Given the description of an element on the screen output the (x, y) to click on. 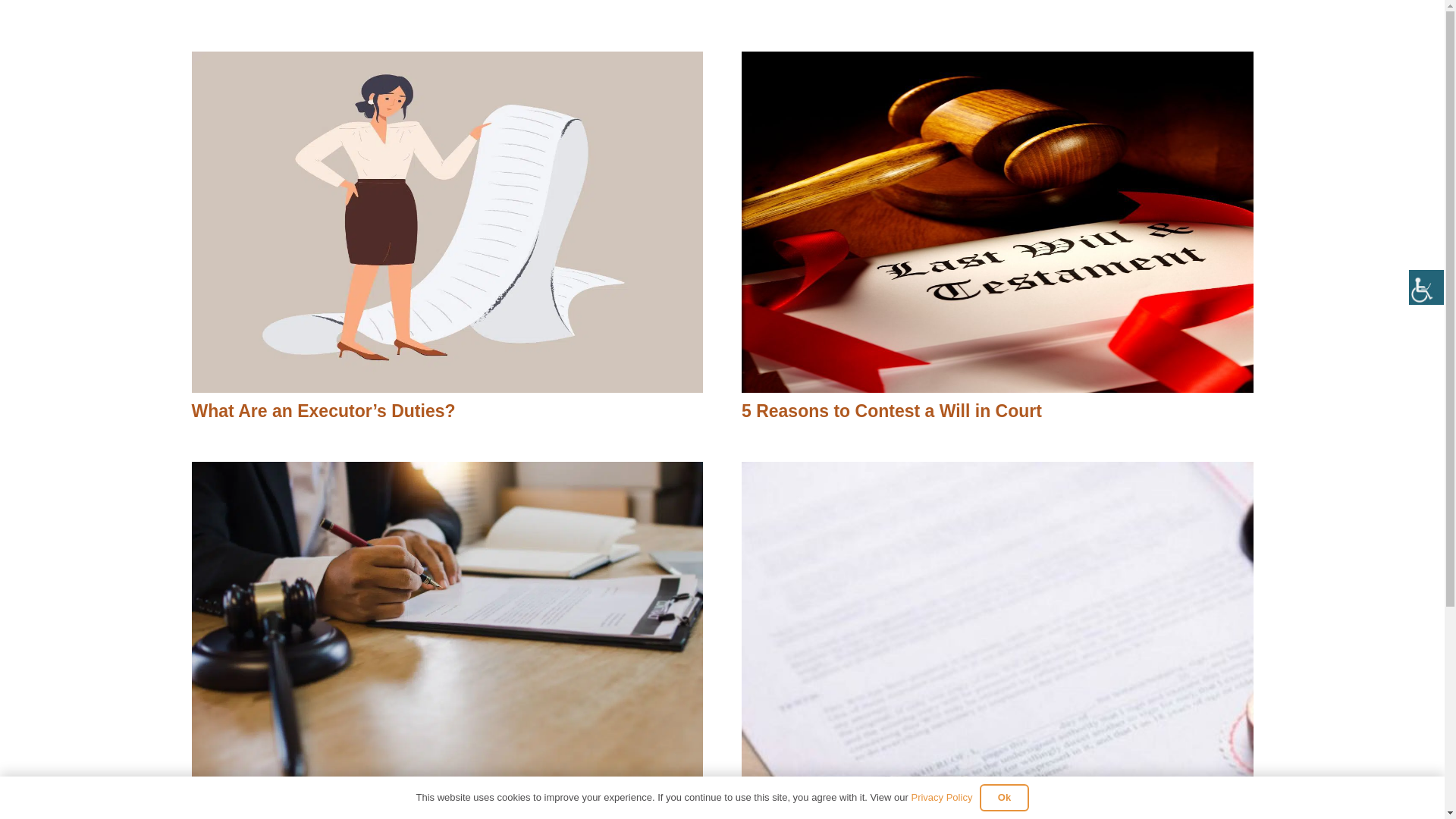
5 Reasons to Contest a Will in Court (891, 410)
Privacy Policy (941, 797)
Ok (1003, 797)
7 Things a Probate Litigation Attorney Can Do for You (413, 815)
